Given the description of an element on the screen output the (x, y) to click on. 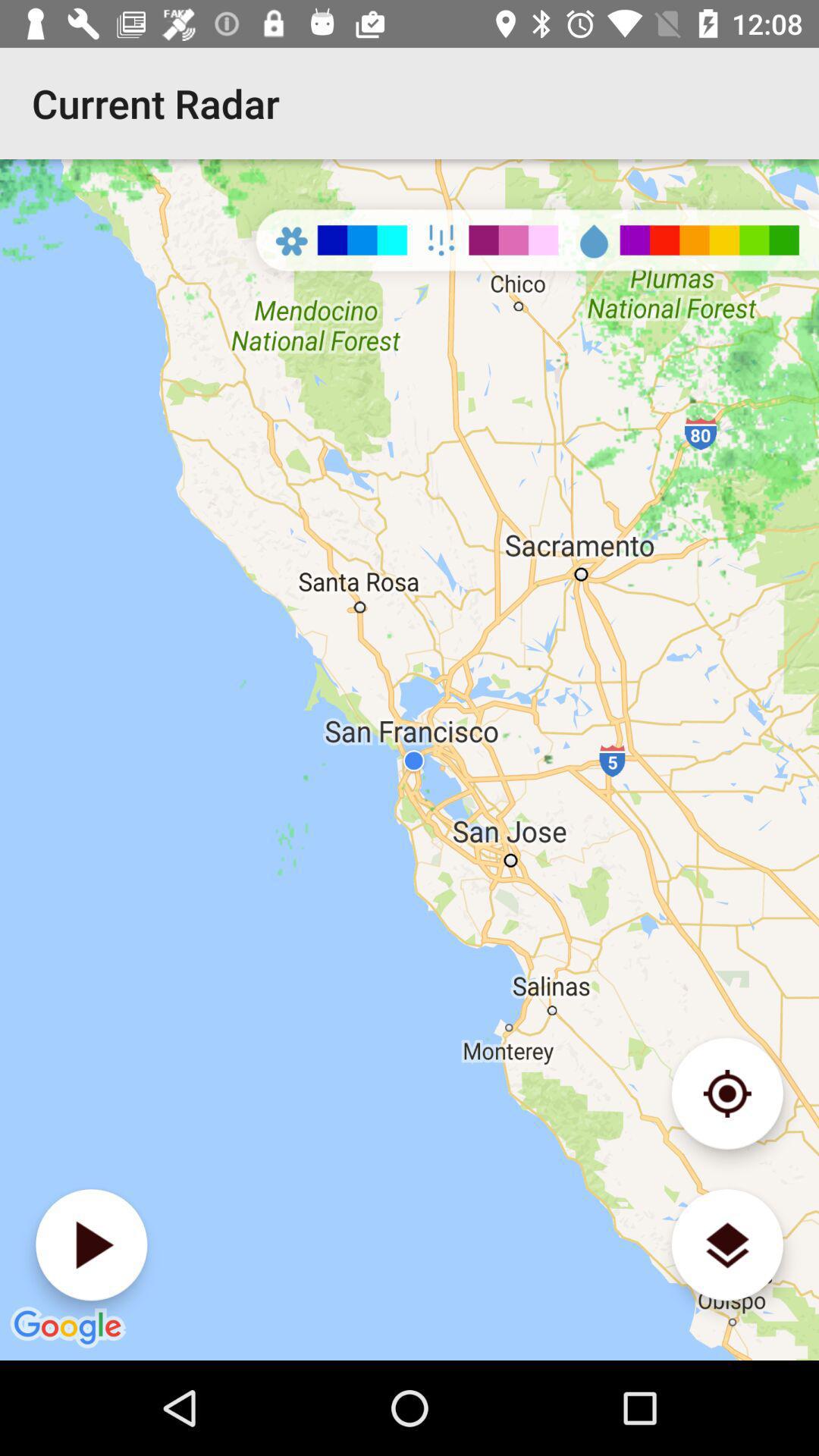
navigate to current location (727, 1093)
